Given the description of an element on the screen output the (x, y) to click on. 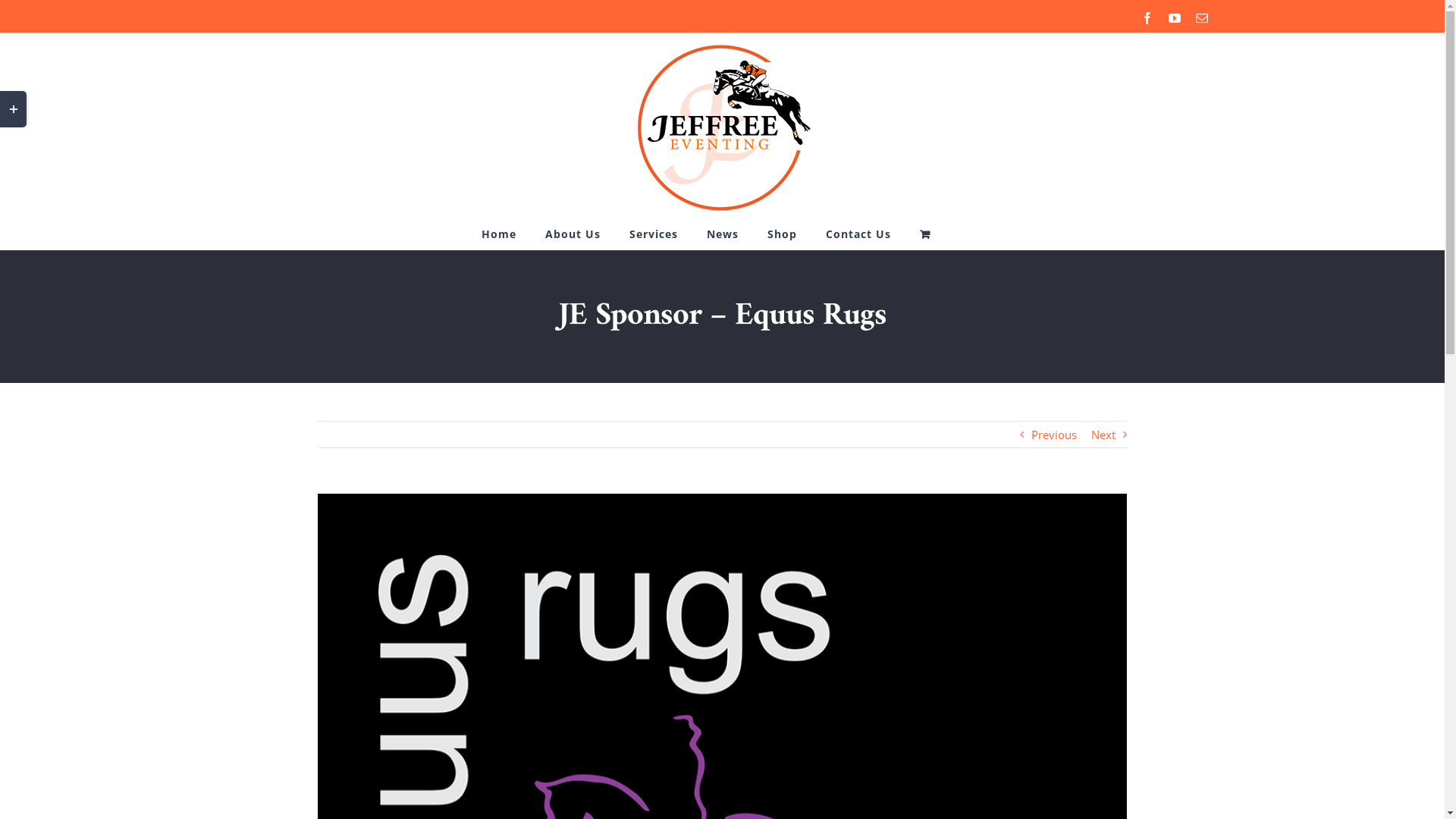
YouTube Element type: text (1173, 18)
Next Element type: text (1103, 434)
Facebook Element type: text (1146, 18)
News Element type: text (722, 234)
Contact Us Element type: text (858, 234)
Toggle Sliding Bar Area Element type: text (13, 109)
Previous Element type: text (1053, 434)
Email Element type: text (1201, 18)
Home Element type: text (498, 234)
Services Element type: text (653, 234)
About Us Element type: text (572, 234)
Shop Element type: text (782, 234)
